Given the description of an element on the screen output the (x, y) to click on. 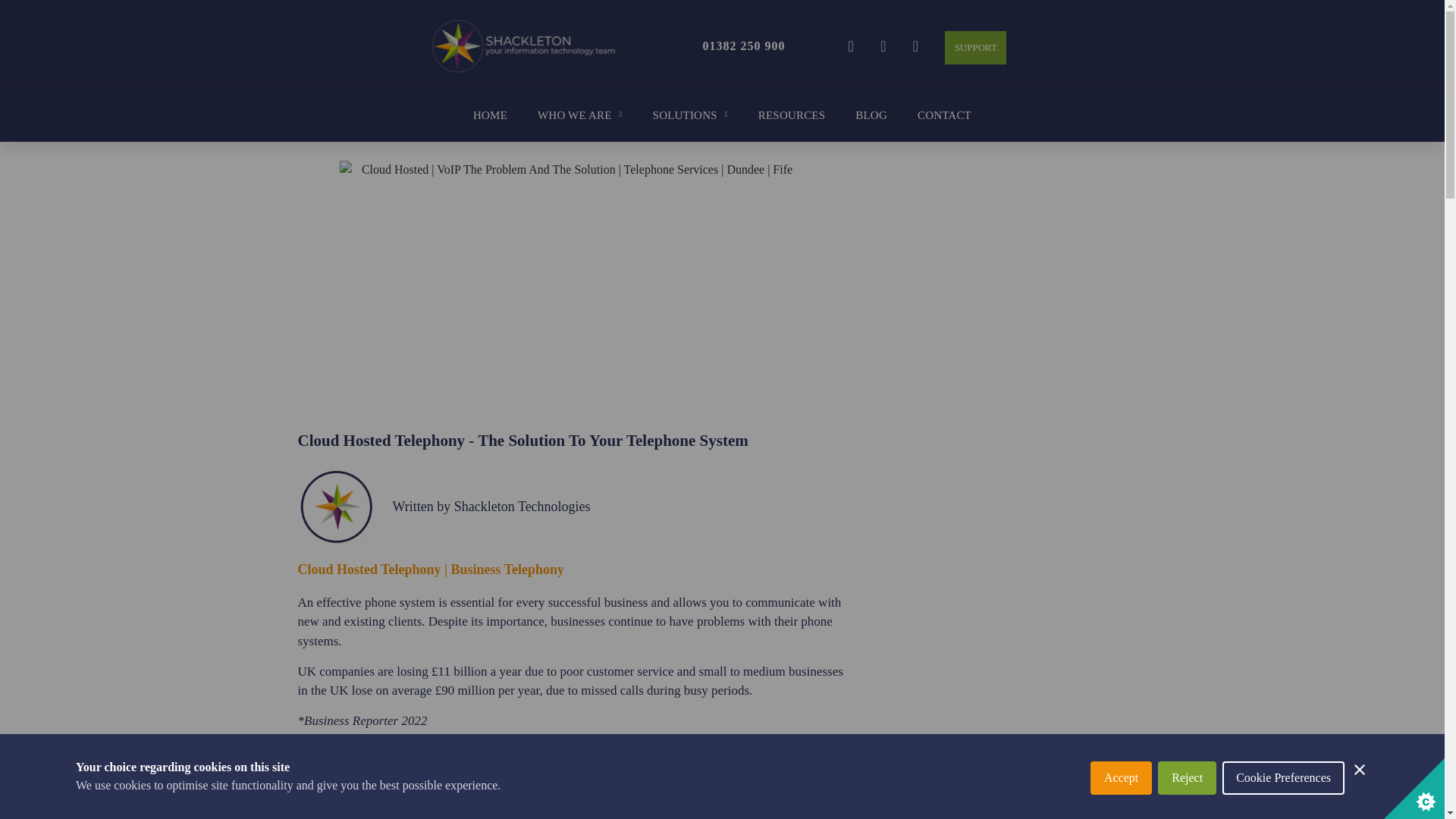
SOLUTIONS (690, 115)
Cloud Hosted Telephony 1 (570, 290)
01382 250 900 (742, 45)
HOME (489, 115)
SUPPORT (976, 47)
WHO WE ARE (580, 115)
Cloud Hosted Telephony 3 (337, 507)
RESOURCES (791, 115)
CONTACT (944, 115)
Cookie Preferences (1283, 815)
